Given the description of an element on the screen output the (x, y) to click on. 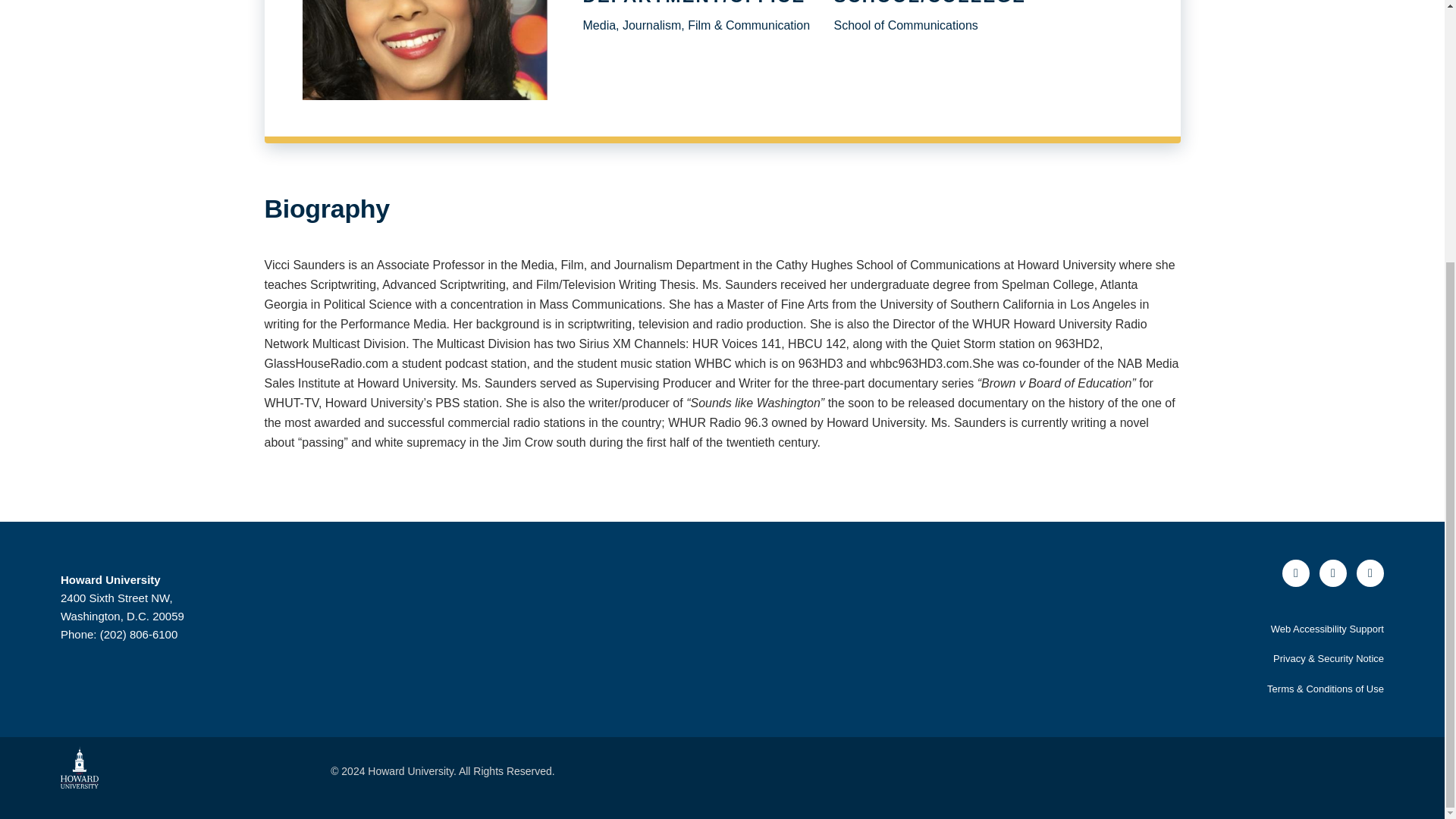
Twitter (1332, 573)
Web Accessibility Support (1327, 628)
Web Accessibility Support (1327, 628)
Instagram (1370, 573)
Facebook (1295, 573)
